Given the description of an element on the screen output the (x, y) to click on. 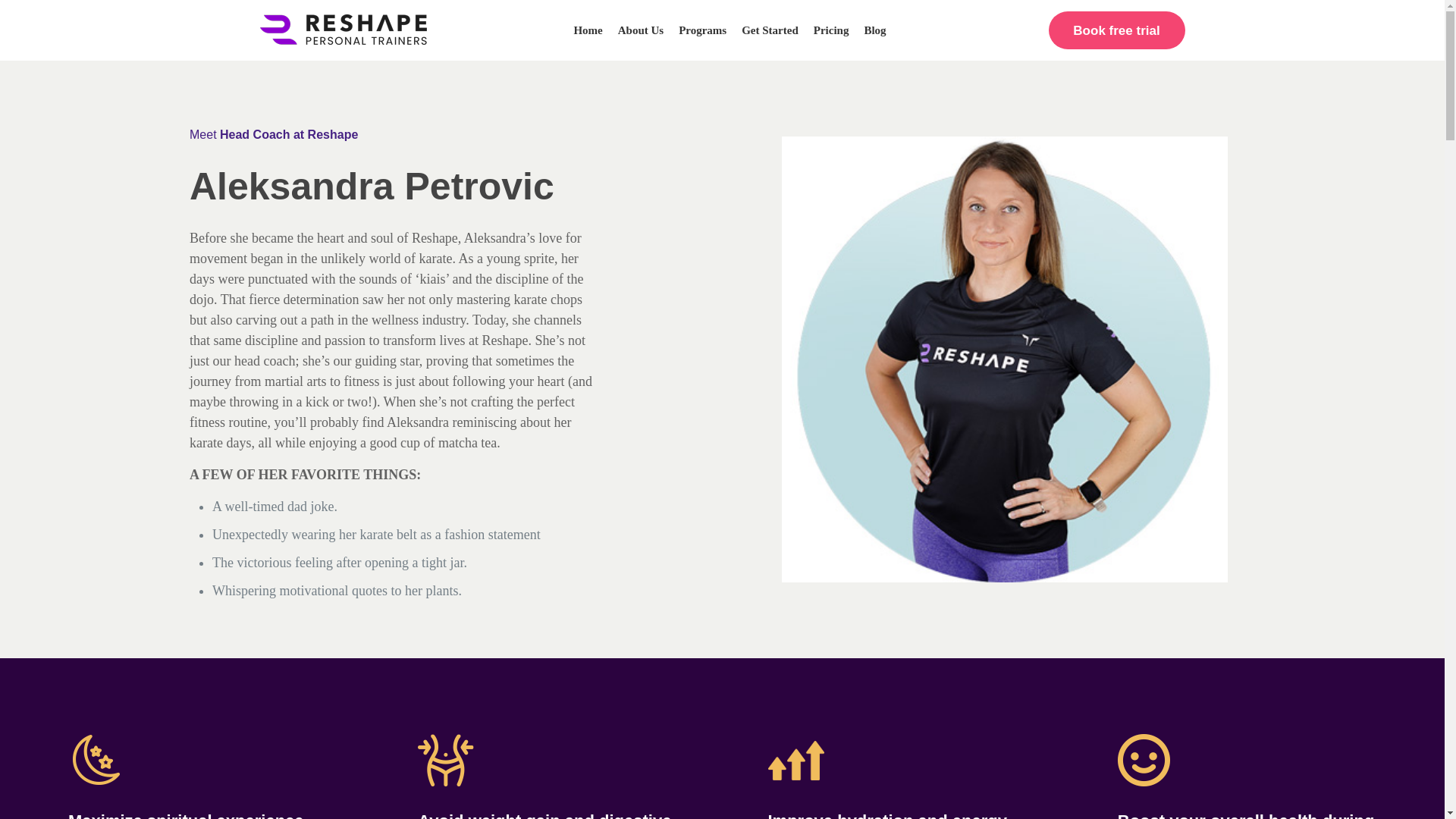
Book free trial (1116, 30)
Get Started (777, 30)
About Us (647, 30)
Programs (709, 30)
RESHAPE PT DUBAI - We Turn Your Fitness Goals into Reality (342, 39)
